Given the description of an element on the screen output the (x, y) to click on. 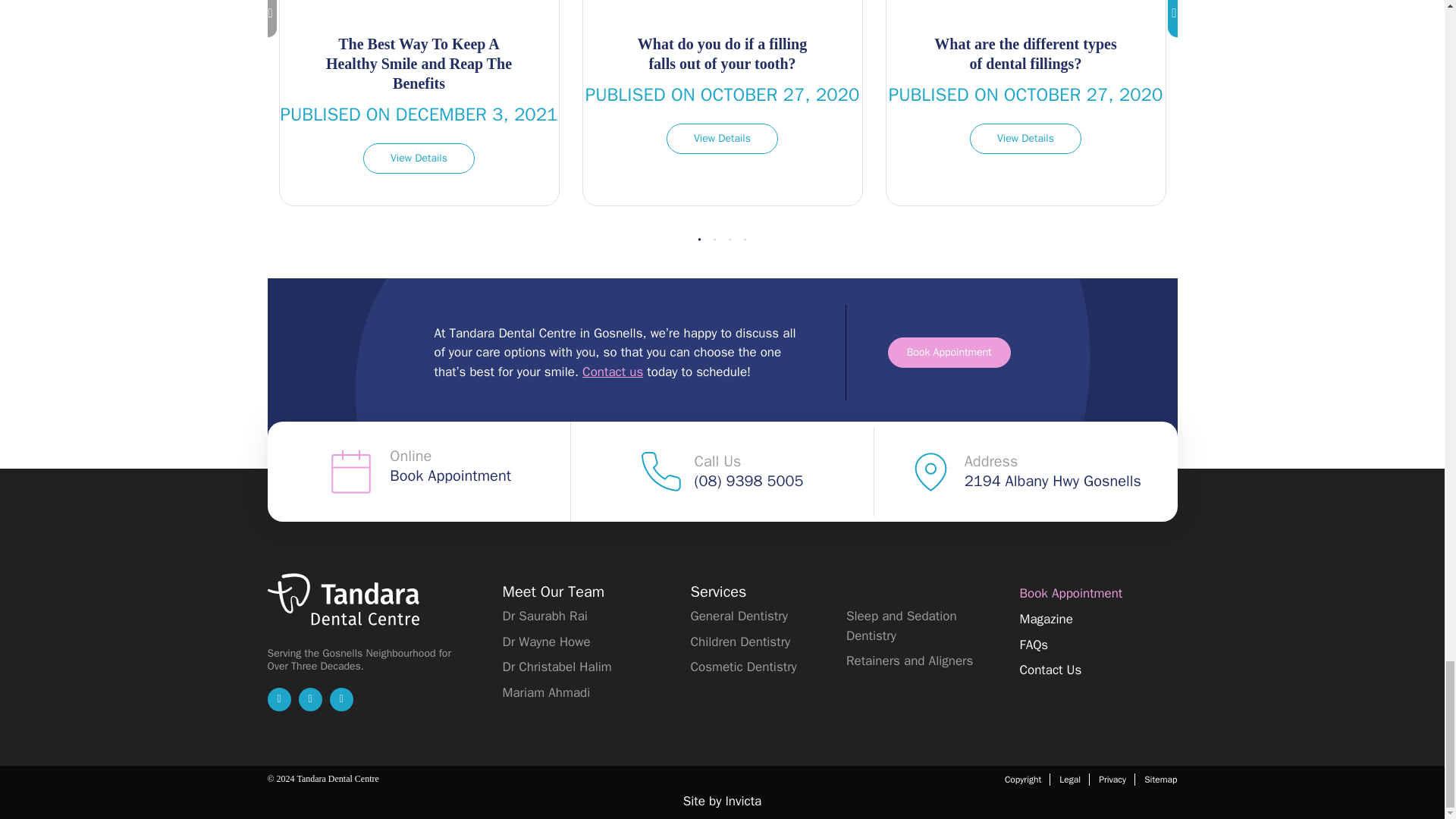
The Best Way To Keep A Healthy Smile and Reap The Benefits (418, 158)
What are the different types of dental fillings? (1025, 138)
Website by Invicta Agency (721, 801)
What do you do if a filling falls out of your tooth? (721, 138)
